Given the description of an element on the screen output the (x, y) to click on. 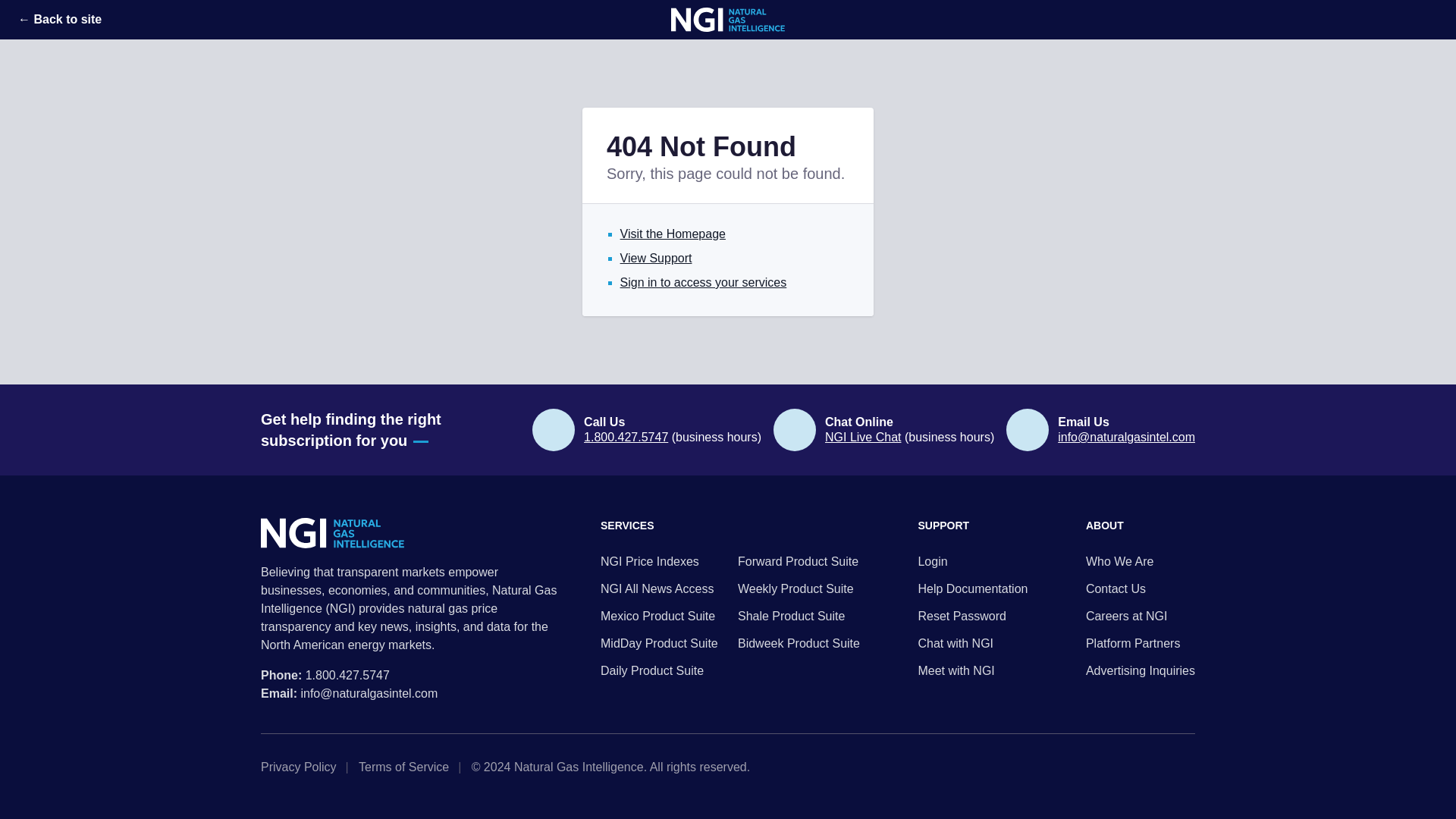
Opens a widget where you can chat to one of our agents (1398, 792)
MidDay Product Suite (660, 643)
View Support (656, 257)
Sign in to access your services (703, 282)
Visit the Homepage (672, 233)
Contact Us (1140, 588)
1.800.427.5747 (347, 675)
Bidweek Product Suite (799, 643)
Daily Product Suite (660, 670)
Platform Partners (1140, 643)
Privacy Policy (303, 766)
LinkedIn (1164, 766)
Meet with NGI (972, 670)
Advertising Inquiries (1140, 670)
1.800.427.5747 (625, 436)
